Given the description of an element on the screen output the (x, y) to click on. 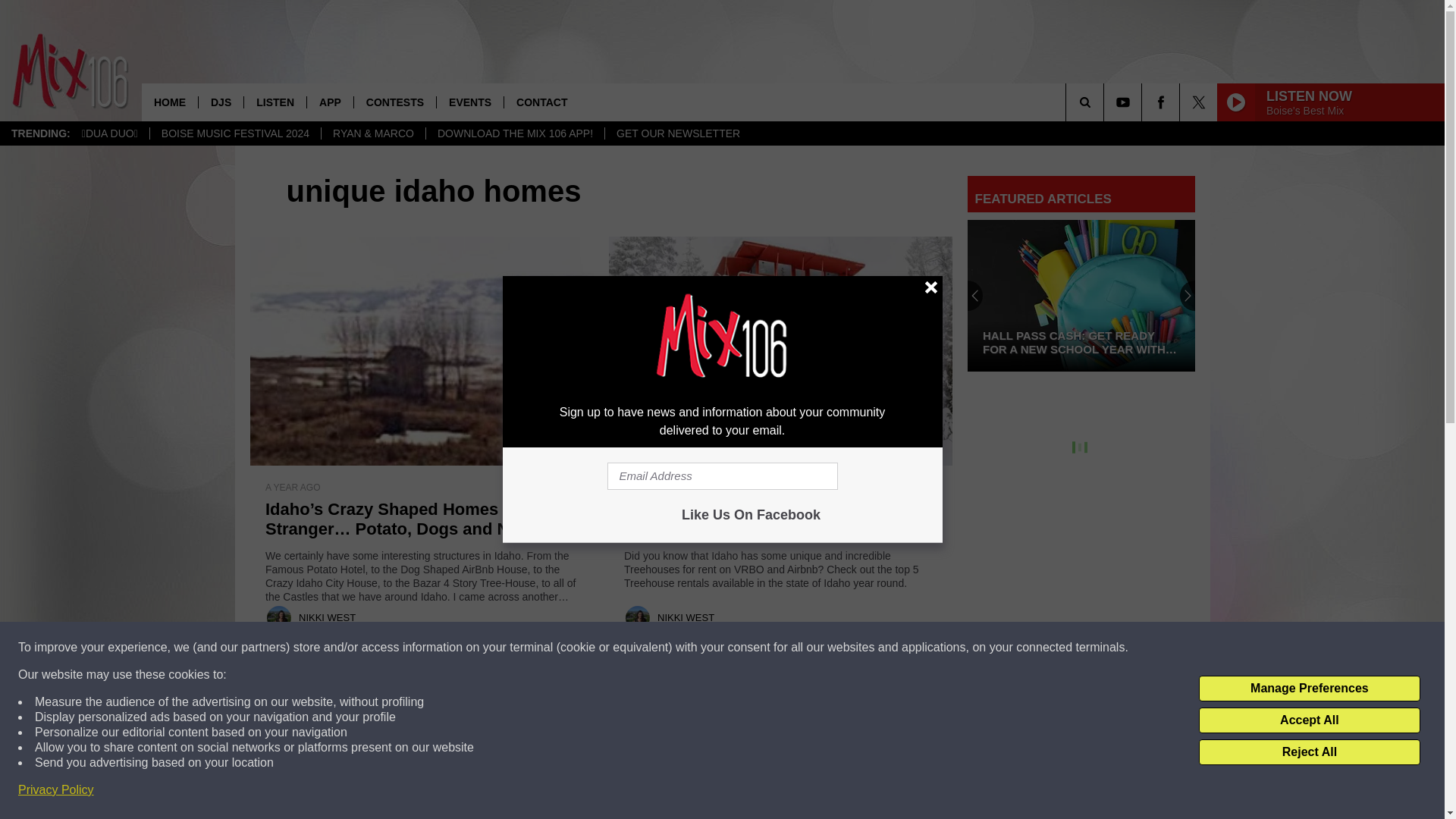
GET OUR NEWSLETTER (677, 133)
Accept All (1309, 720)
LISTEN (274, 102)
DJS (220, 102)
HOME (169, 102)
EVENTS (469, 102)
Privacy Policy (55, 789)
APP (329, 102)
SEARCH (1106, 102)
BOISE MUSIC FESTIVAL 2024 (234, 133)
SEARCH (1106, 102)
Manage Preferences (1309, 688)
DOWNLOAD THE MIX 106 APP! (514, 133)
Reject All (1309, 751)
Email Address (722, 475)
